Given the description of an element on the screen output the (x, y) to click on. 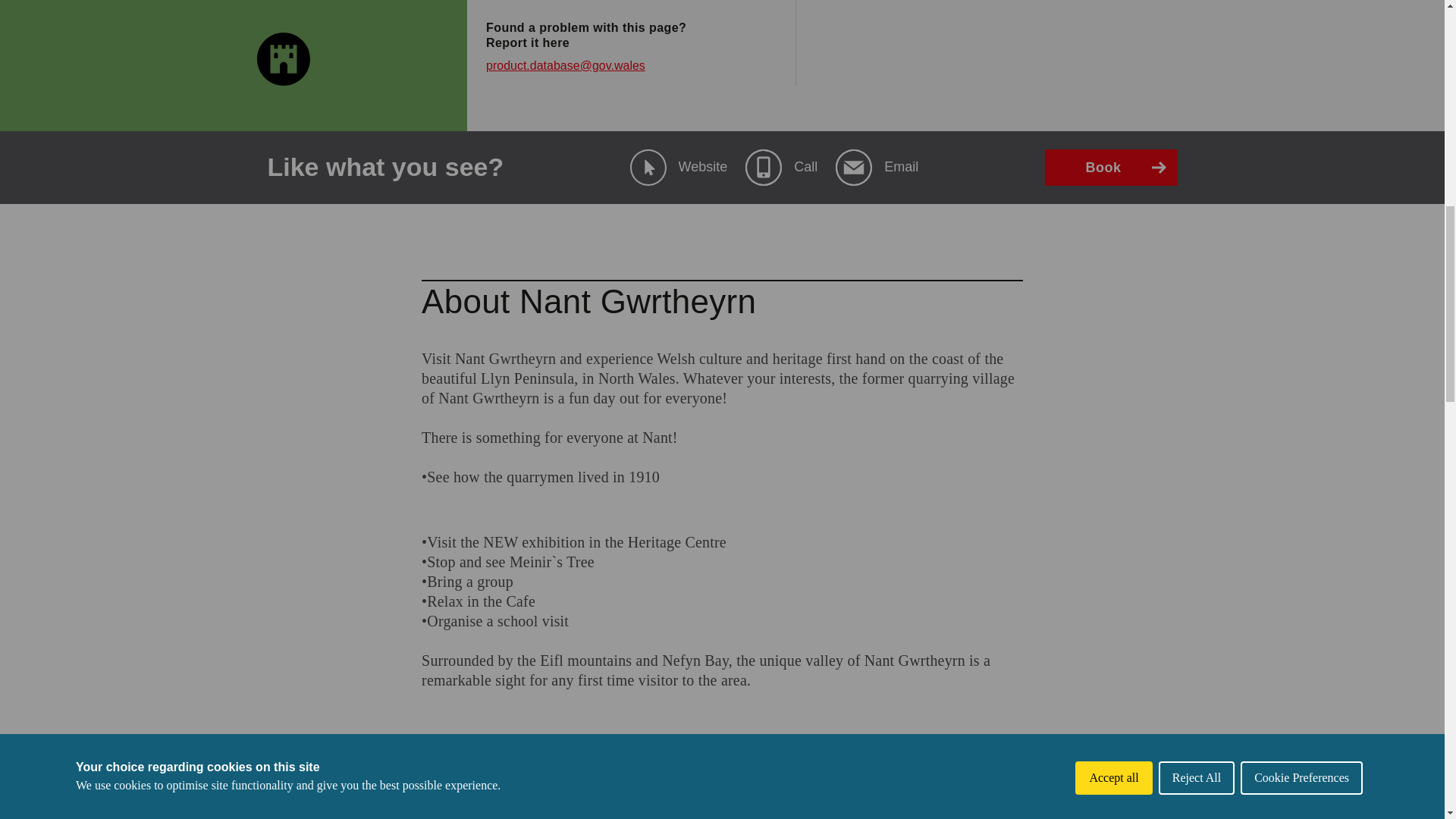
Website (679, 167)
Call (780, 167)
Book (1111, 167)
Email (876, 167)
